Given the description of an element on the screen output the (x, y) to click on. 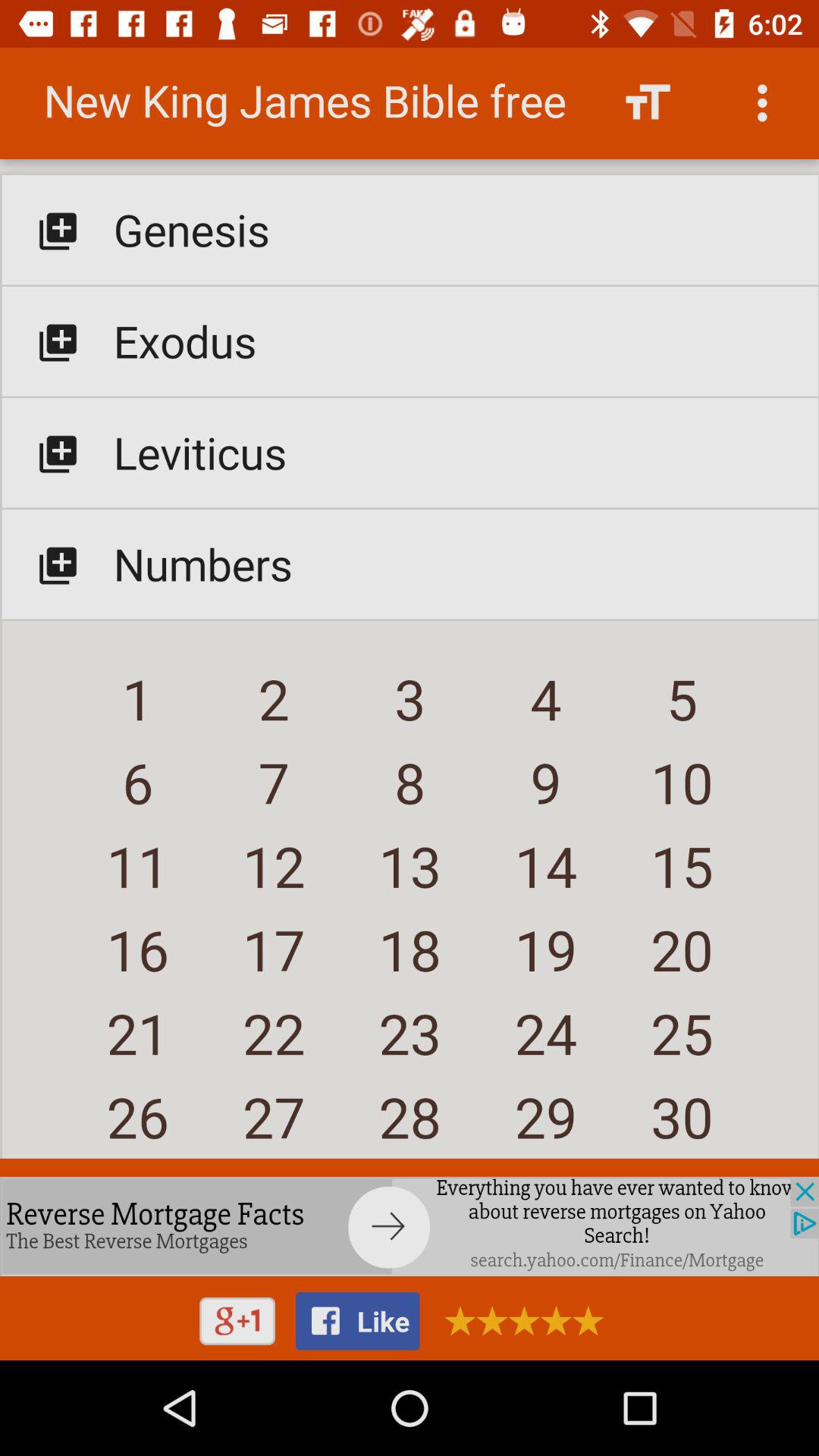
open an advertisements (518, 1320)
